Given the description of an element on the screen output the (x, y) to click on. 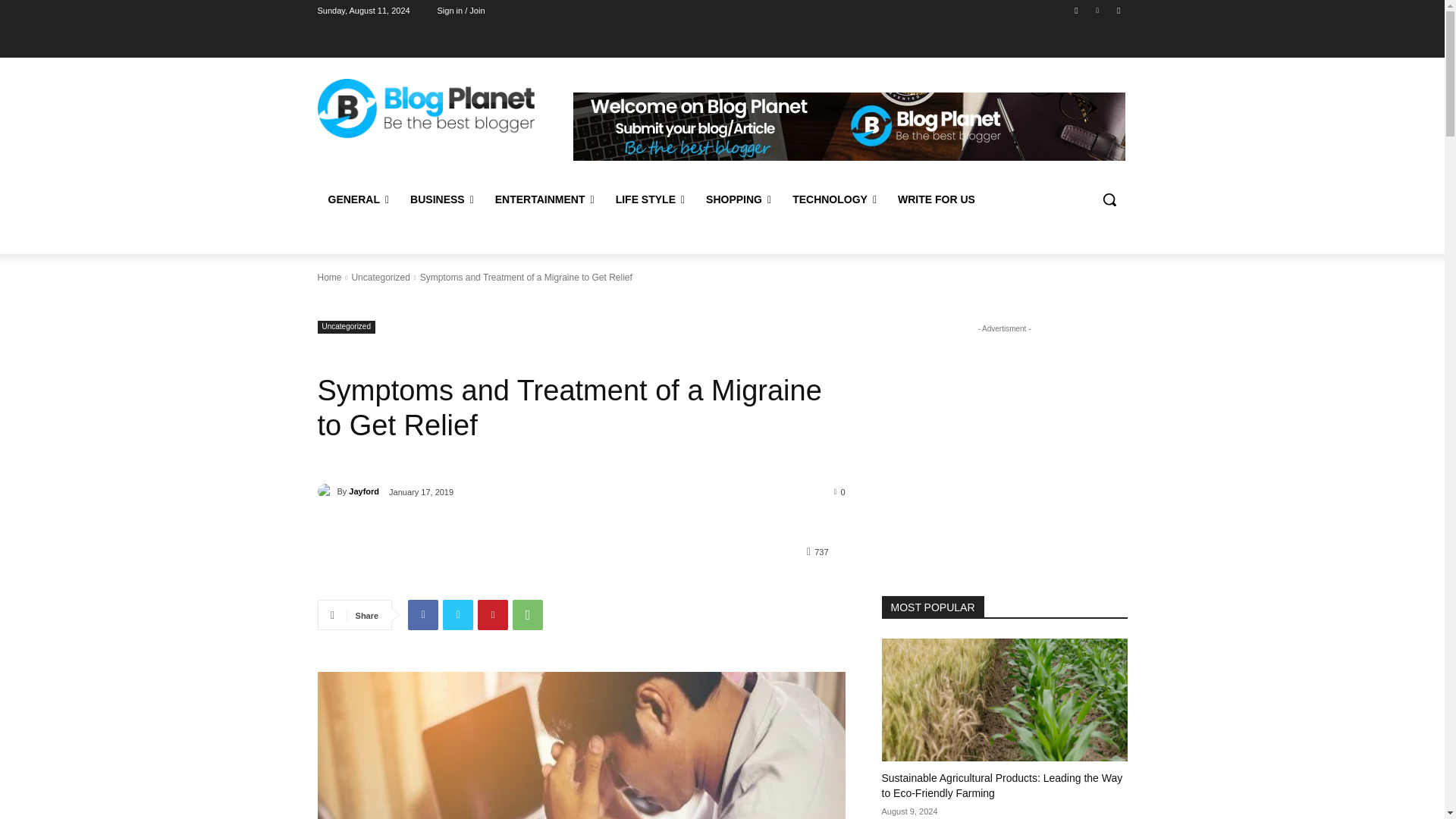
WhatsApp (527, 614)
GENERAL (357, 198)
Twitter (1117, 9)
Jayford (326, 491)
View all posts in Uncategorized (379, 276)
Facebook (1075, 9)
Twitter (457, 614)
Pinterest (492, 614)
Facebook (422, 614)
Linkedin (1097, 9)
